Given the description of an element on the screen output the (x, y) to click on. 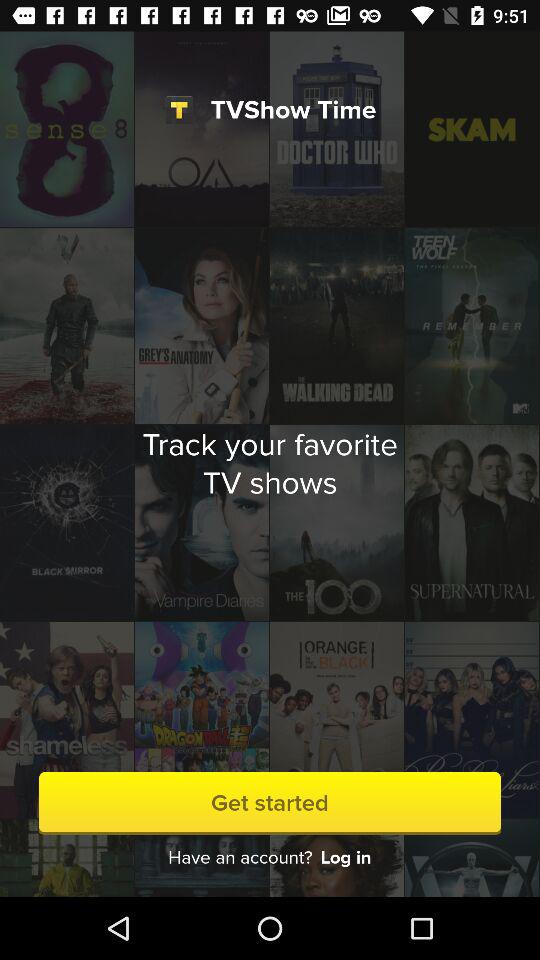
choose icon below the get started (345, 857)
